Given the description of an element on the screen output the (x, y) to click on. 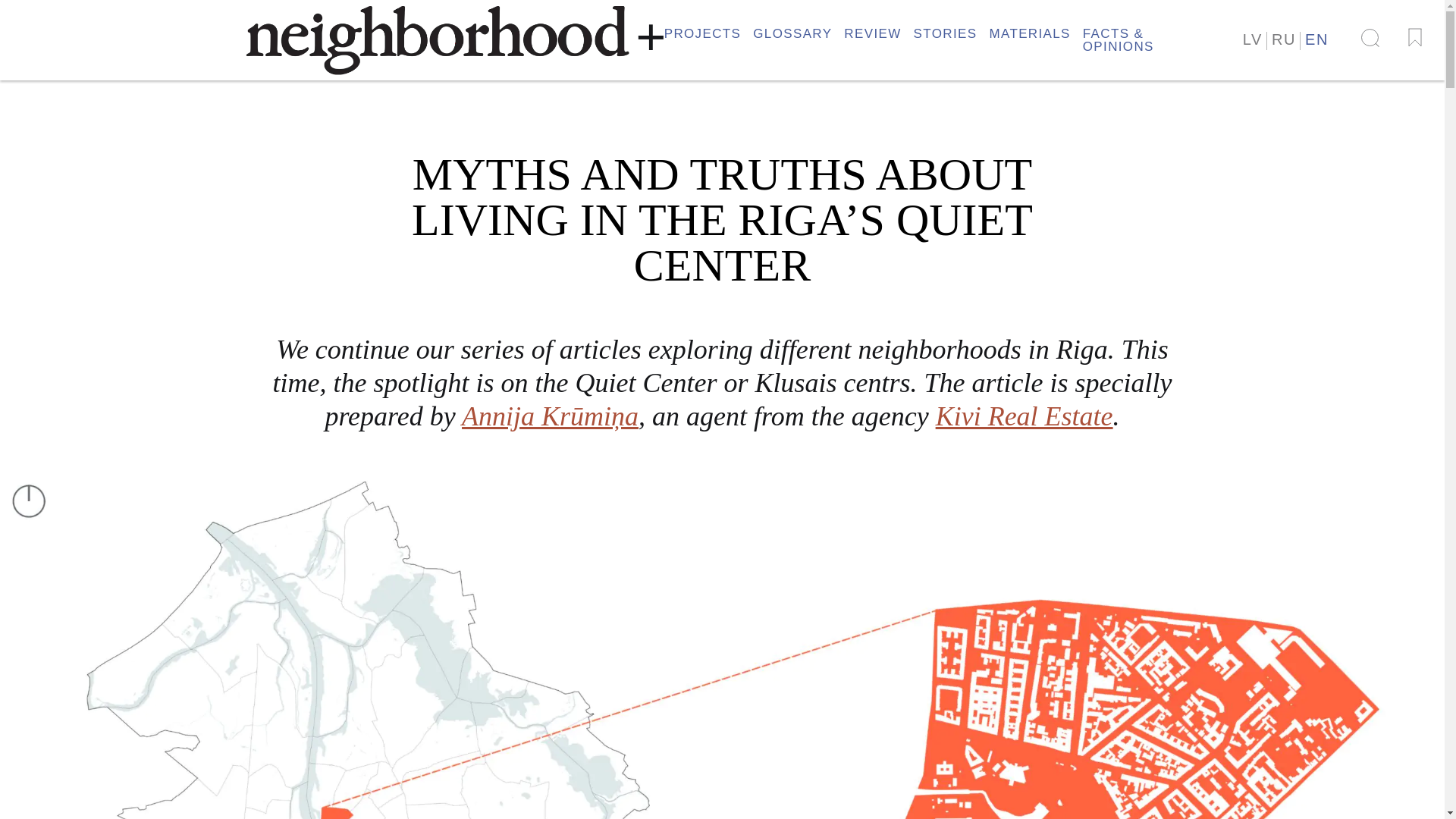
LV (1252, 38)
RU (1283, 38)
EN (1315, 38)
GLOSSARY (791, 33)
REVIEW (872, 33)
Kivi Real Estate (1024, 416)
STORIES (945, 33)
PROJECTS (702, 33)
MATERIALS (1029, 33)
